Given the description of an element on the screen output the (x, y) to click on. 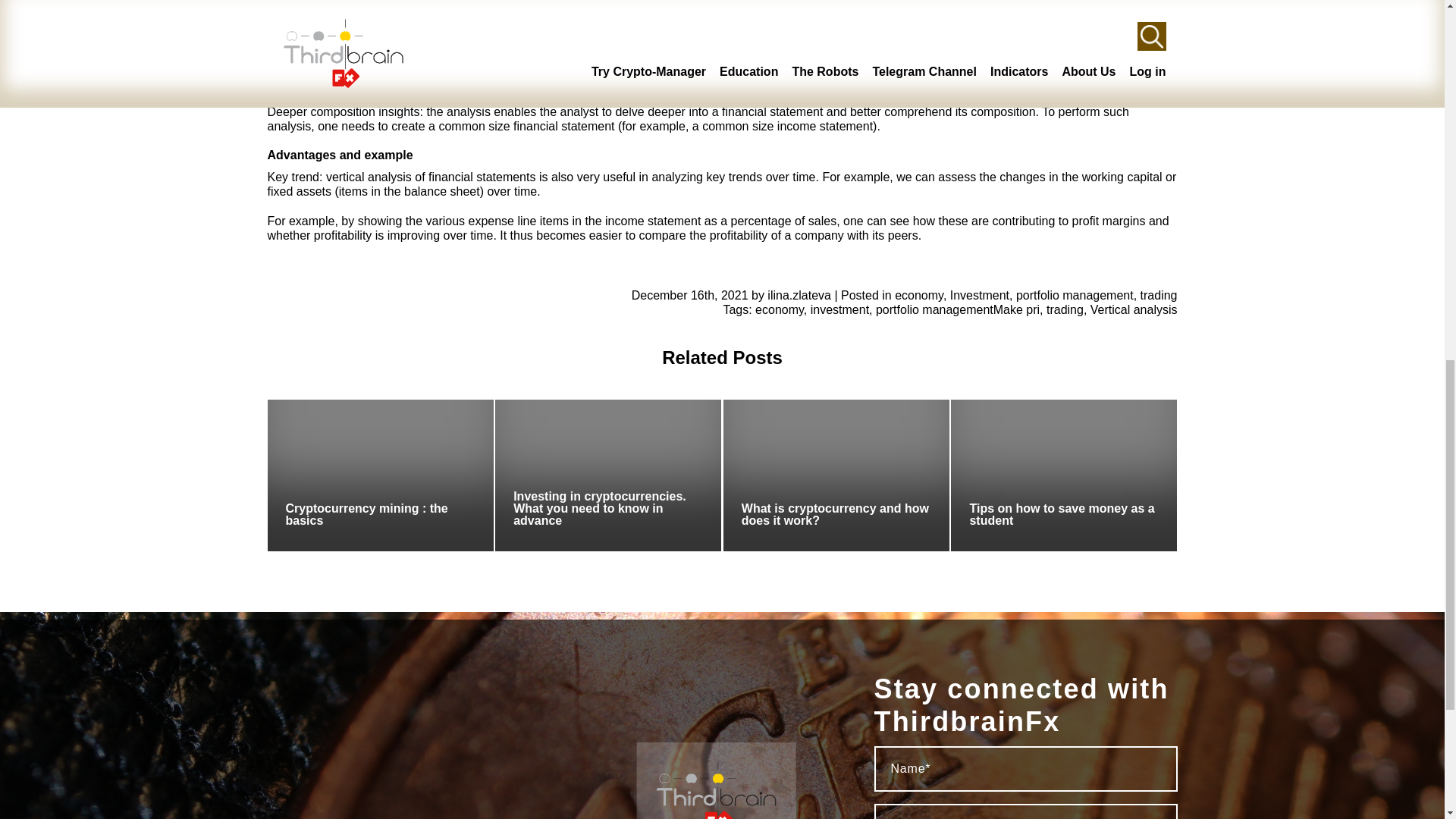
trading (1158, 295)
investment (839, 309)
portfolio managementMake pri (957, 309)
economy (919, 295)
Investment (979, 295)
trading (1064, 309)
portfolio management (1075, 295)
Vertical analysis (1133, 309)
economy (779, 309)
